Given the description of an element on the screen output the (x, y) to click on. 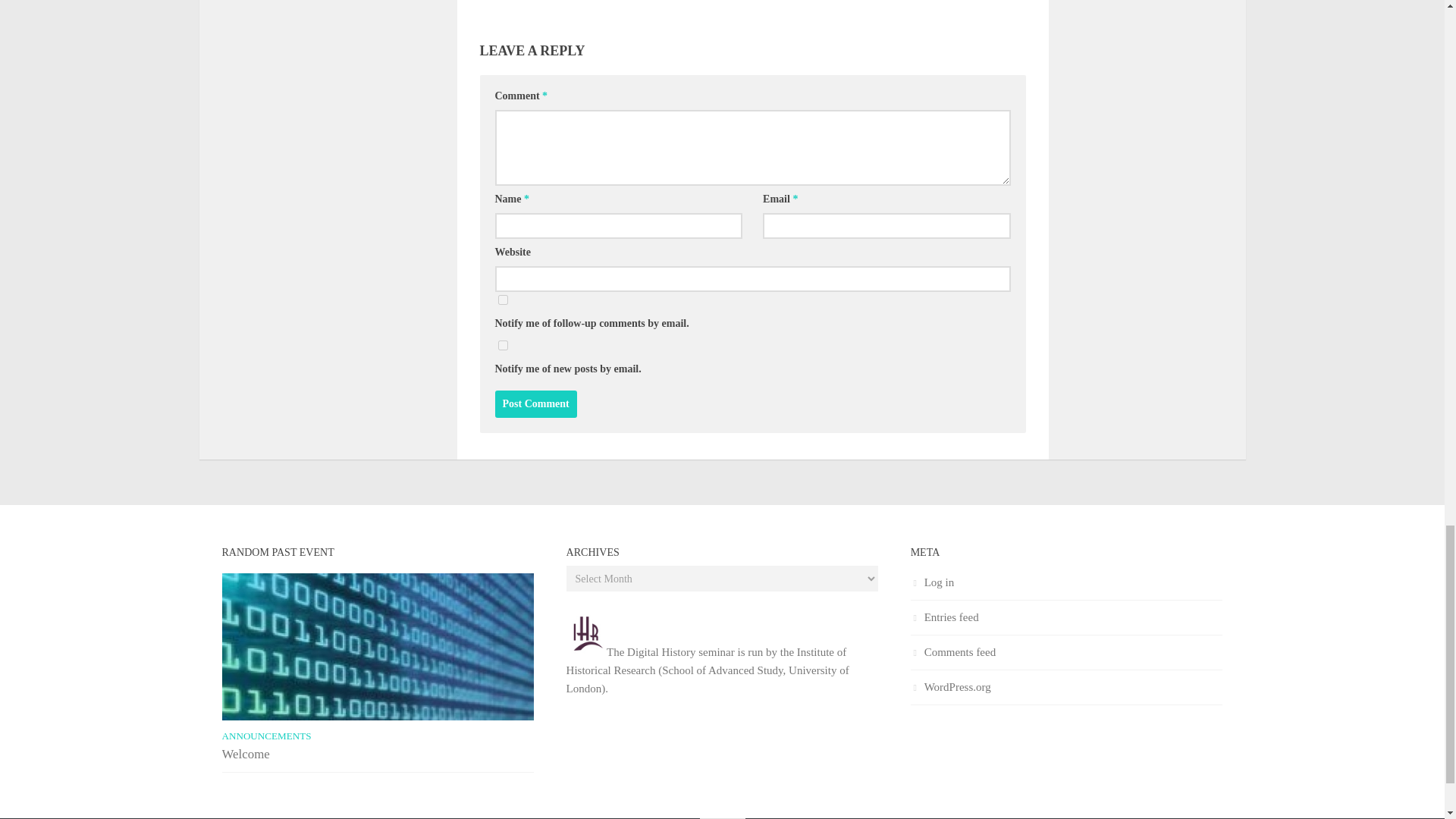
Post Comment (535, 403)
subscribe (501, 299)
subscribe (501, 345)
